Given the description of an element on the screen output the (x, y) to click on. 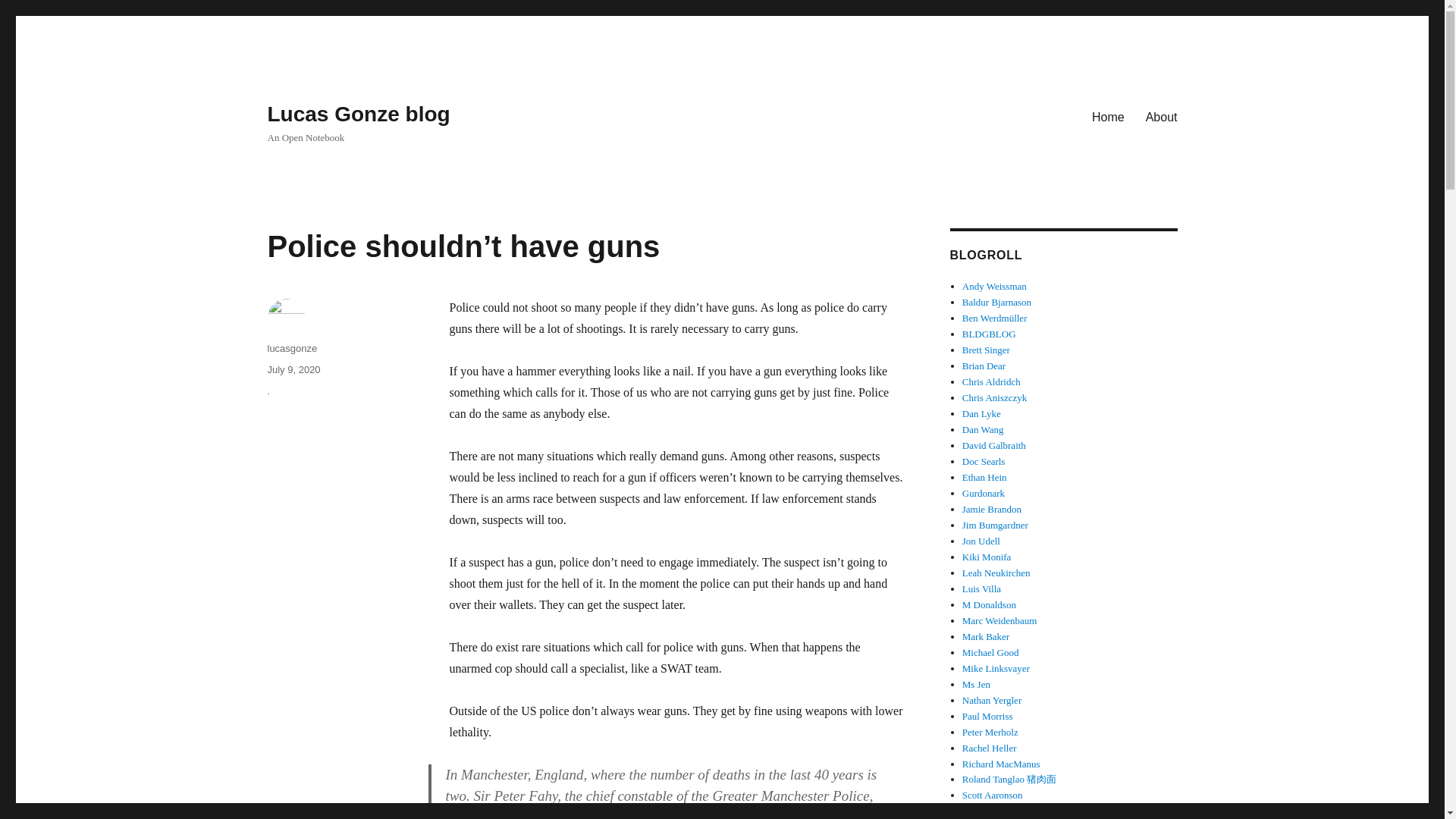
Andy Weissman (994, 285)
Dan Lyke (981, 413)
Jamie Brandon (992, 509)
Geoff Manaugh (989, 333)
Chris Aldridch (991, 381)
BLDGBLOG (989, 333)
About (1161, 116)
Luis Villa (981, 588)
Dan Wang (983, 429)
Leah Neukirchen (996, 572)
Chris Aniszczyk (994, 397)
Gurdonark (983, 492)
Brett Singer (986, 349)
Brian Dear (984, 365)
July 9, 2020 (293, 369)
